Given the description of an element on the screen output the (x, y) to click on. 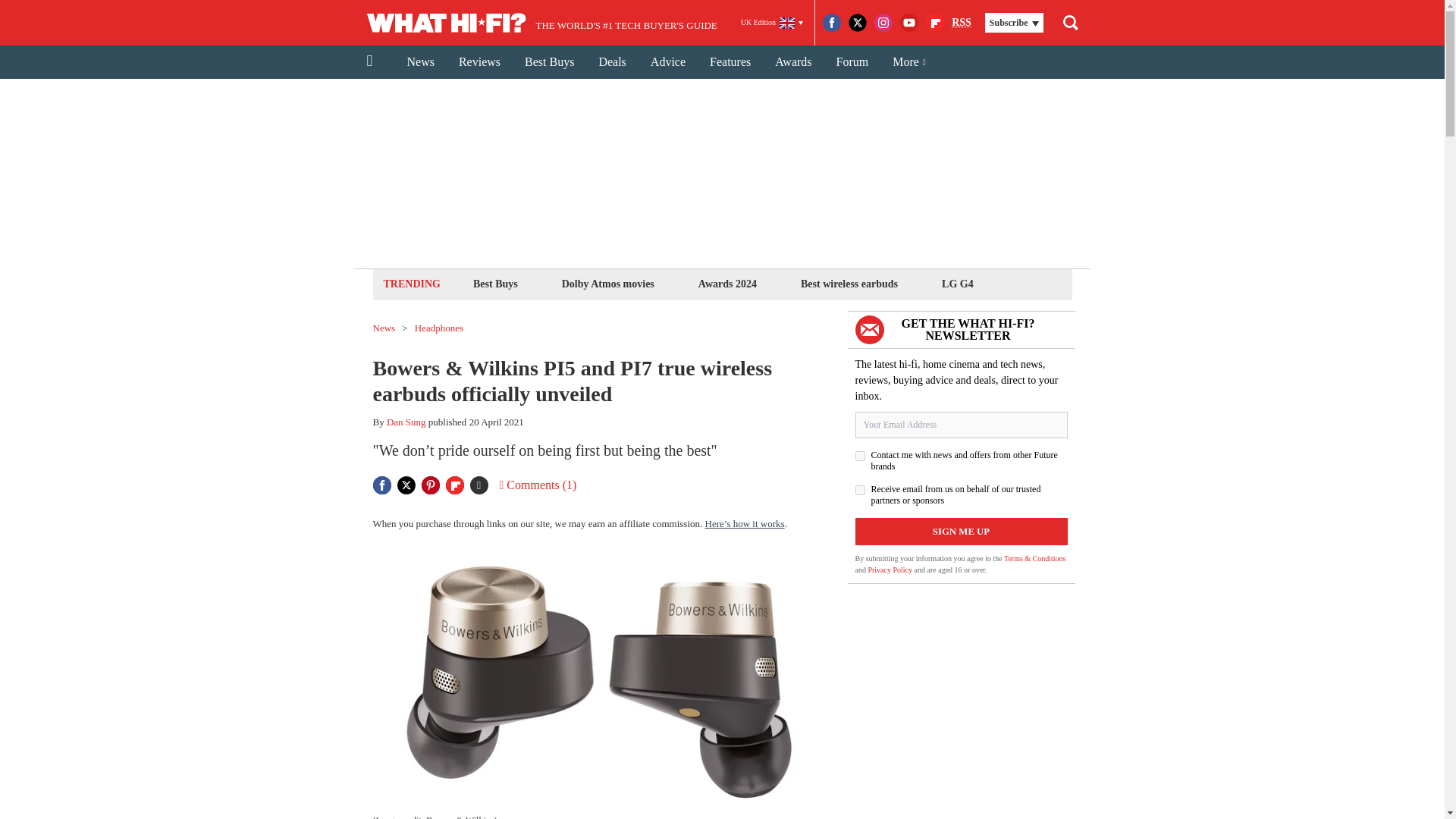
on (860, 456)
Awards 2024 (727, 283)
Best Buys (549, 61)
on (860, 490)
Dan Sung (406, 421)
Deals (611, 61)
Features (729, 61)
Sign me up (961, 531)
Headphones (438, 327)
Advice (668, 61)
Reviews (479, 61)
Best wireless earbuds (848, 283)
LG G4 (957, 283)
Dolby Atmos movies (607, 283)
RSS (961, 22)
